Given the description of an element on the screen output the (x, y) to click on. 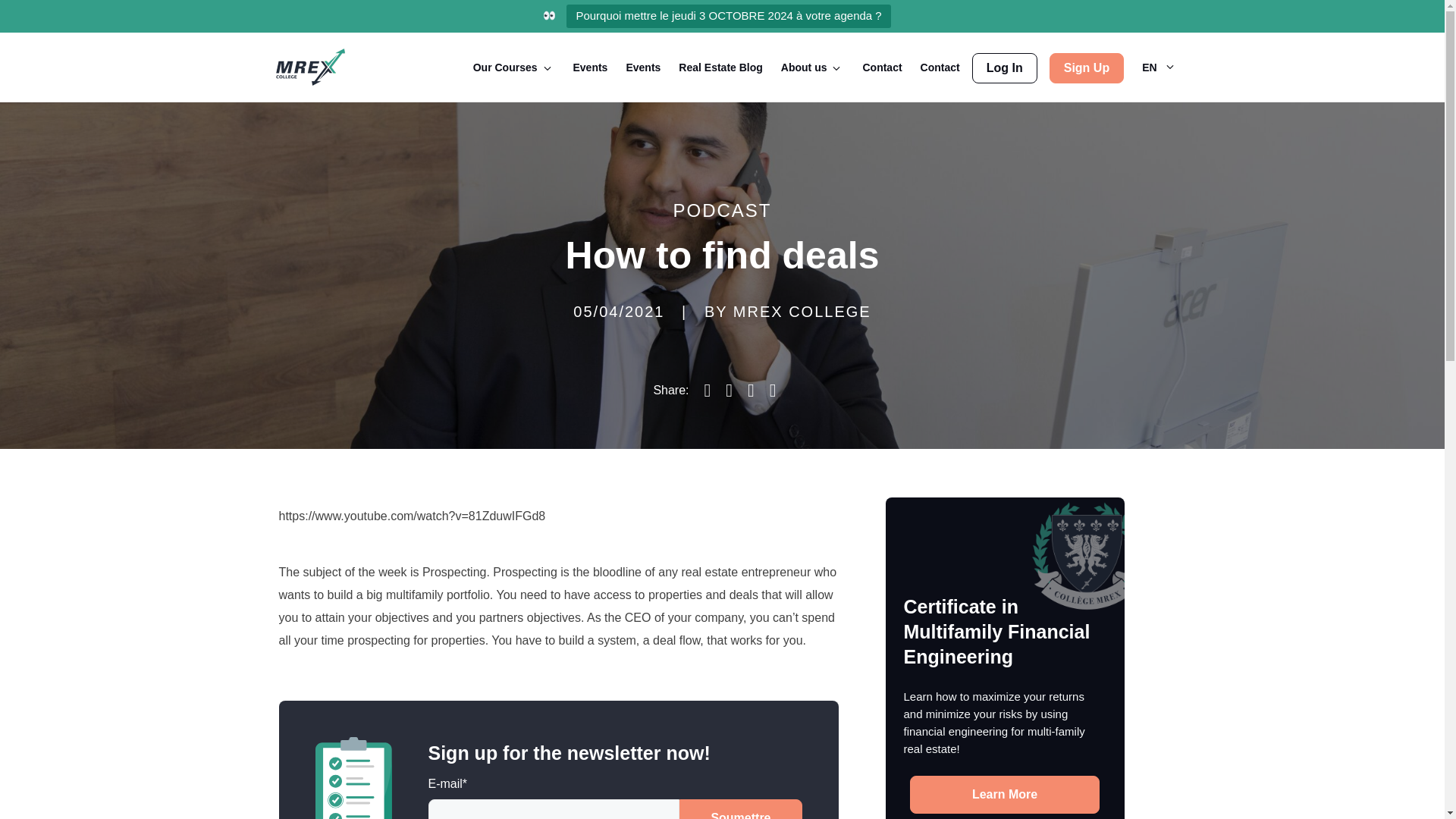
Log In (1004, 68)
About us (803, 67)
Our Courses (505, 67)
Events (590, 67)
Soumettre (740, 809)
Contact (881, 67)
Sign Up (1086, 68)
Real Estate Blog (719, 67)
Events (643, 67)
Contact (939, 67)
